Given the description of an element on the screen output the (x, y) to click on. 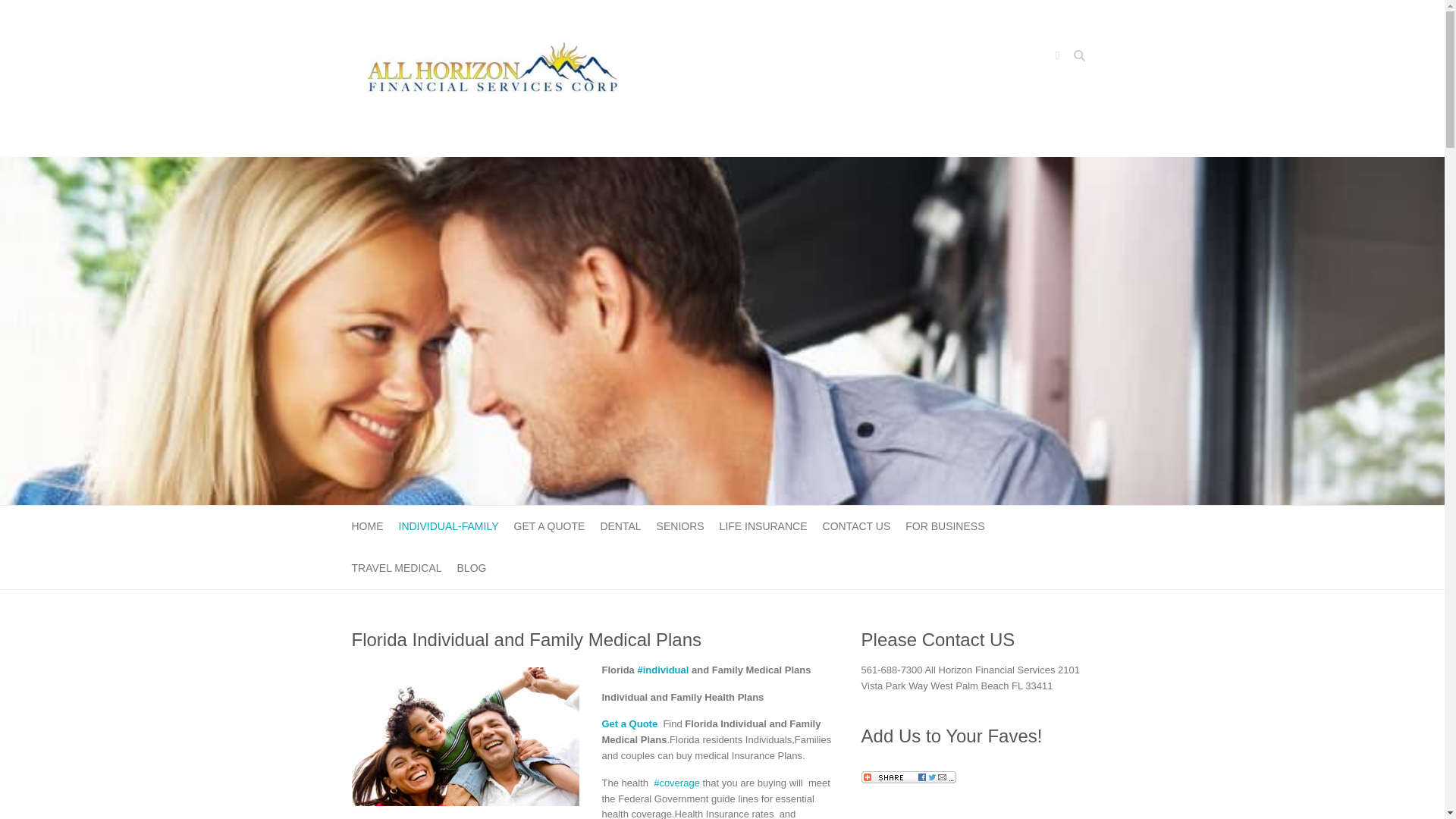
Get a Quote (630, 723)
Life Insurance (763, 526)
All Horizon Financial Services on RSS (1057, 56)
GET A QUOTE (549, 526)
All Horizon Financial Services RSS (1057, 56)
Senior Health Insurance Plans (680, 526)
All Horizon Financial Services (492, 78)
Dental Insurance (619, 526)
INDIVIDUAL-FAMILY (448, 526)
DENTAL (619, 526)
 Global Medical Insurance- GeoBlue,Florida (397, 567)
